Given the description of an element on the screen output the (x, y) to click on. 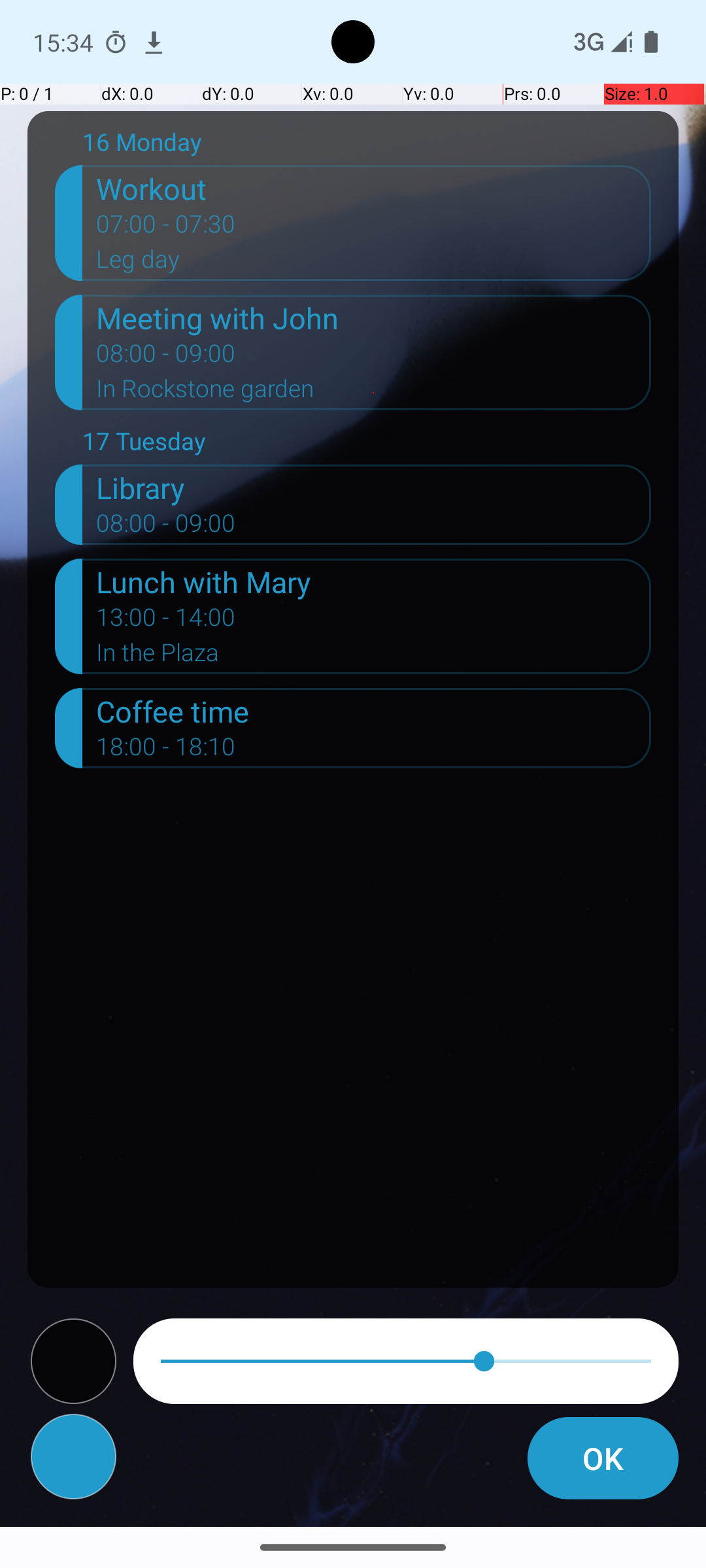
Workout Element type: android.widget.TextView (373, 187)
07:00 - 07:30 Element type: android.widget.TextView (165, 227)
Leg day Element type: android.widget.TextView (373, 262)
Meeting with John Element type: android.widget.TextView (373, 316)
08:00 - 09:00 Element type: android.widget.TextView (165, 357)
In Rockstone garden Element type: android.widget.TextView (373, 392)
Lunch with Mary Element type: android.widget.TextView (373, 580)
13:00 - 14:00 Element type: android.widget.TextView (165, 620)
In the Plaza Element type: android.widget.TextView (373, 656)
Coffee time Element type: android.widget.TextView (373, 710)
18:00 - 18:10 Element type: android.widget.TextView (165, 750)
